Given the description of an element on the screen output the (x, y) to click on. 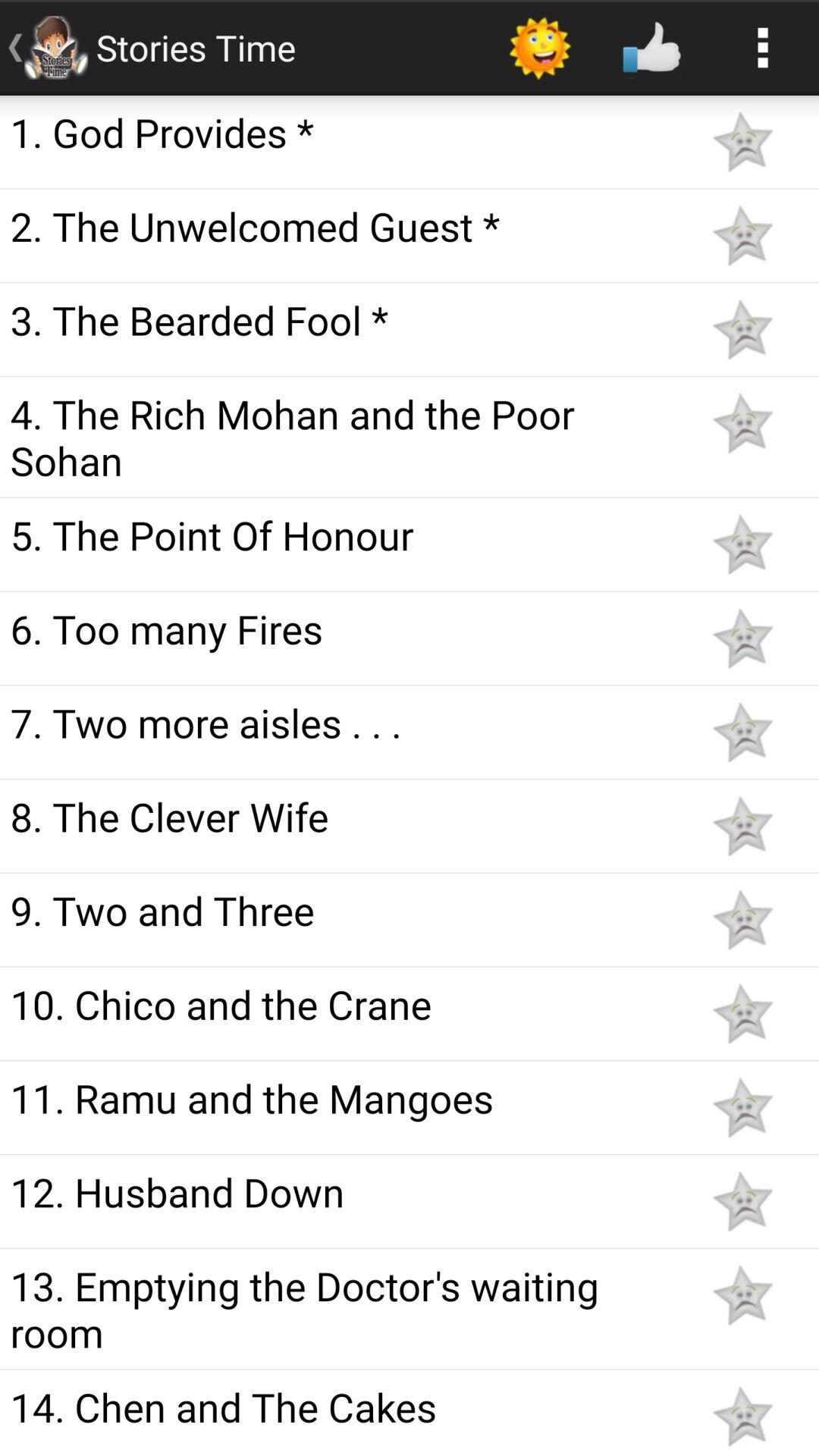
rate the story (742, 1295)
